Given the description of an element on the screen output the (x, y) to click on. 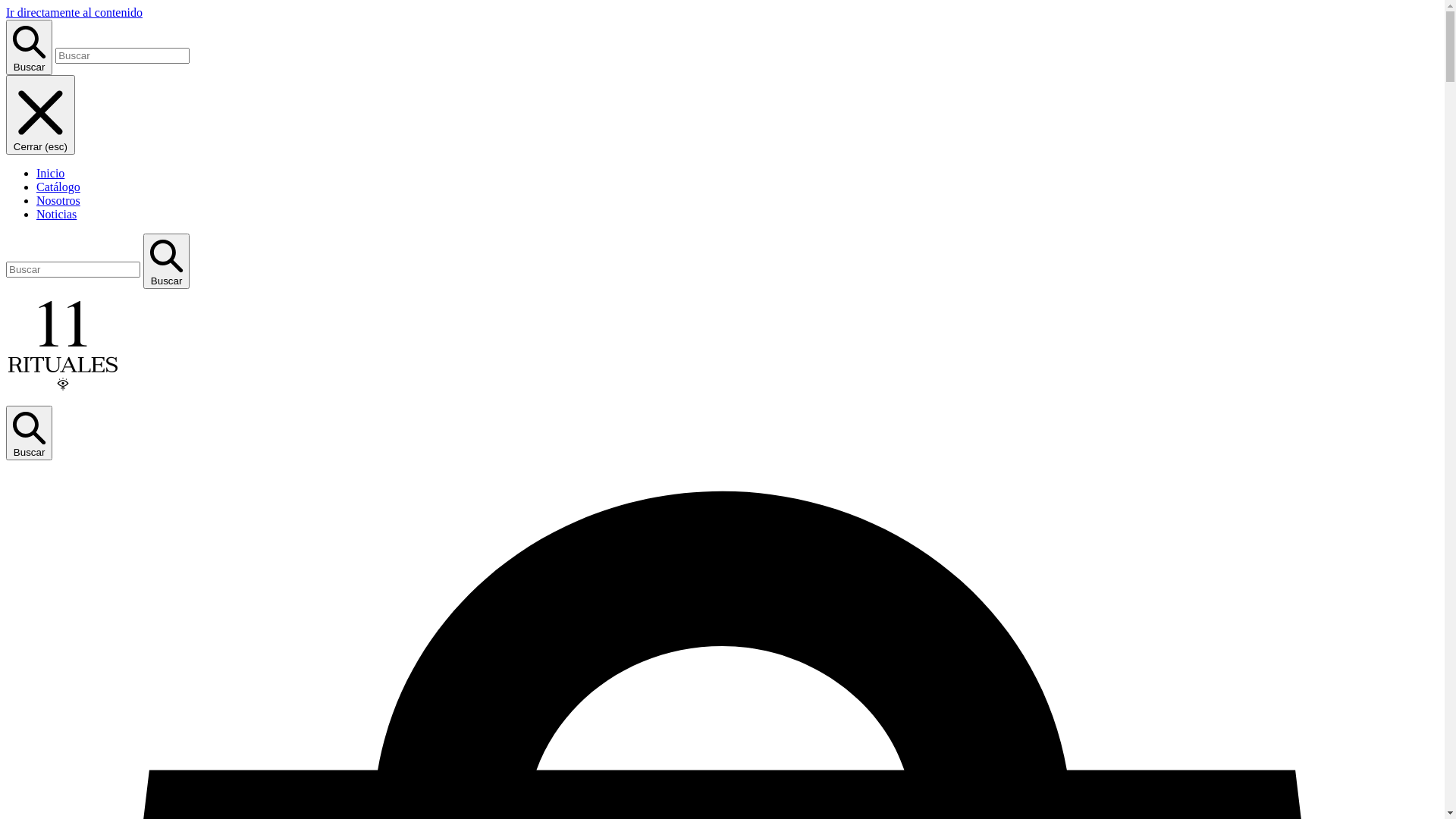
Nosotros Element type: text (58, 200)
Cerrar (esc) Element type: text (40, 114)
Buscar Element type: text (29, 433)
Inicio Element type: text (50, 172)
Buscar Element type: text (166, 260)
Buscar Element type: text (29, 47)
Noticias Element type: text (56, 213)
Ir directamente al contenido Element type: text (74, 12)
